Given the description of an element on the screen output the (x, y) to click on. 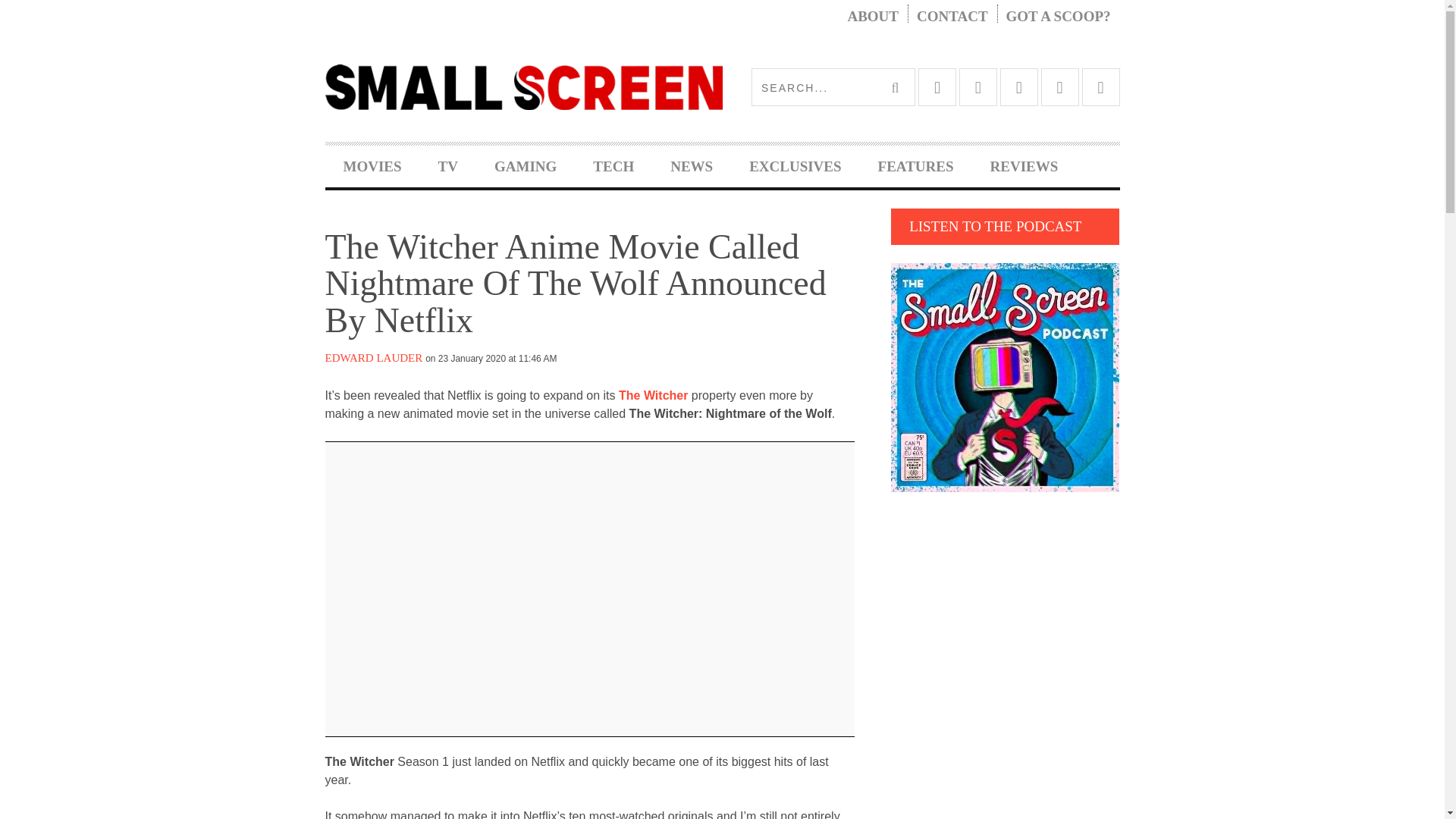
CONTACT (952, 16)
Small Screen (523, 86)
Posts by Edward Lauder (373, 357)
ABOUT (872, 16)
GOT A SCOOP? (1058, 16)
Listen To The Podcast (1005, 376)
